Given the description of an element on the screen output the (x, y) to click on. 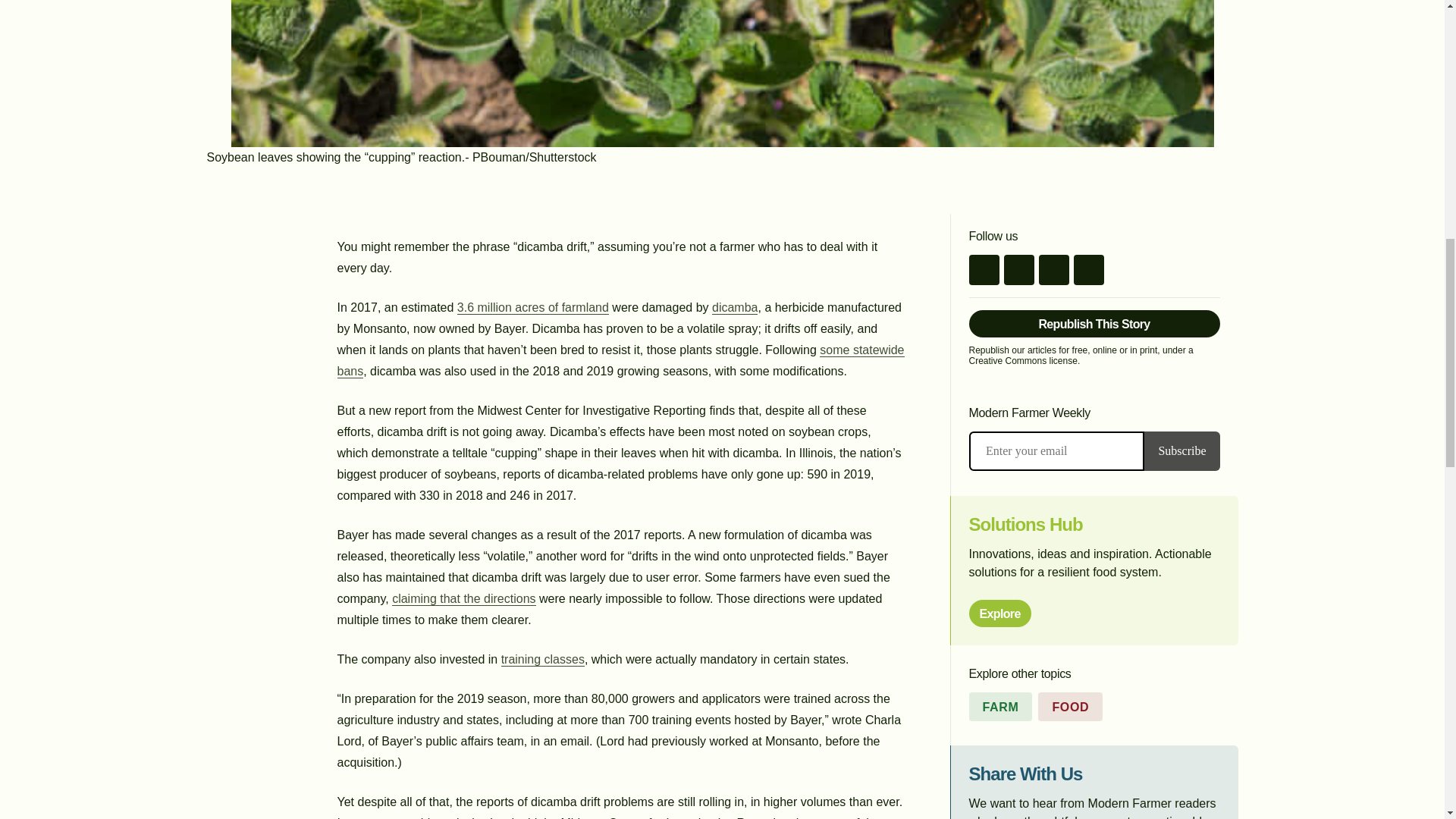
training classes (542, 659)
3.6 million acres of farmland (532, 307)
dicamba (734, 307)
some statewide bans (620, 360)
claiming that the directions (463, 599)
